Given the description of an element on the screen output the (x, y) to click on. 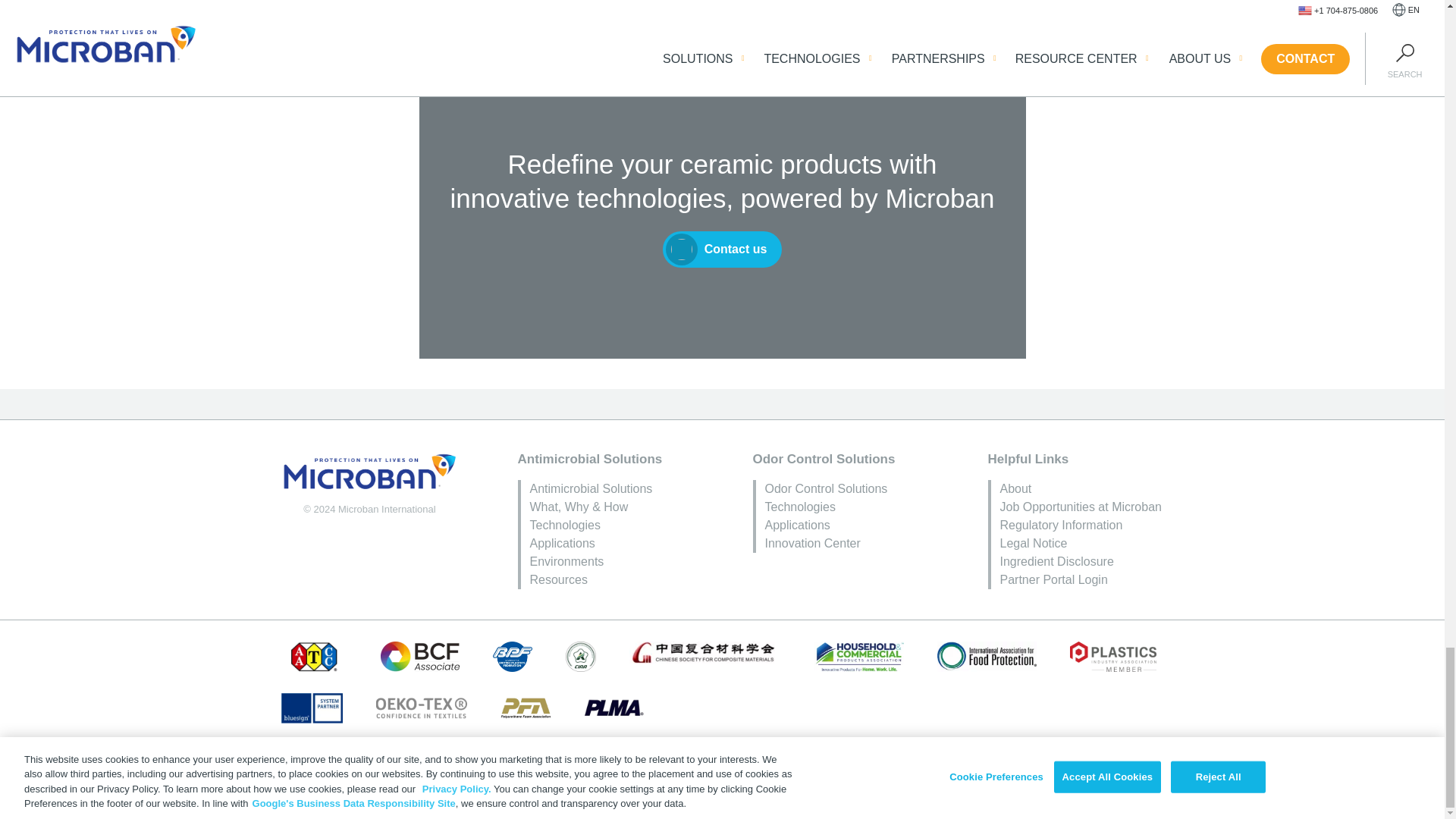
PFA logo footer logo (525, 707)
Householdcommercial footer logo (858, 656)
IAFP logo footer logo (986, 656)
Chinese Society for Composite Materials logo (704, 652)
CIA Alogo footer logo (580, 656)
PLMA footer logo (614, 707)
Plastics Industry Association Member logo (1113, 656)
Microban (369, 471)
aatcc logo - red yellow blue and white logo (314, 656)
BCF Associate logo logo (420, 656)
bluesign System Partner badge logo (311, 707)
OEKO-TEX: Confidence in Textiles logo logo (420, 707)
BPF: Member of the British Plastics Federation logo (512, 656)
